Given the description of an element on the screen output the (x, y) to click on. 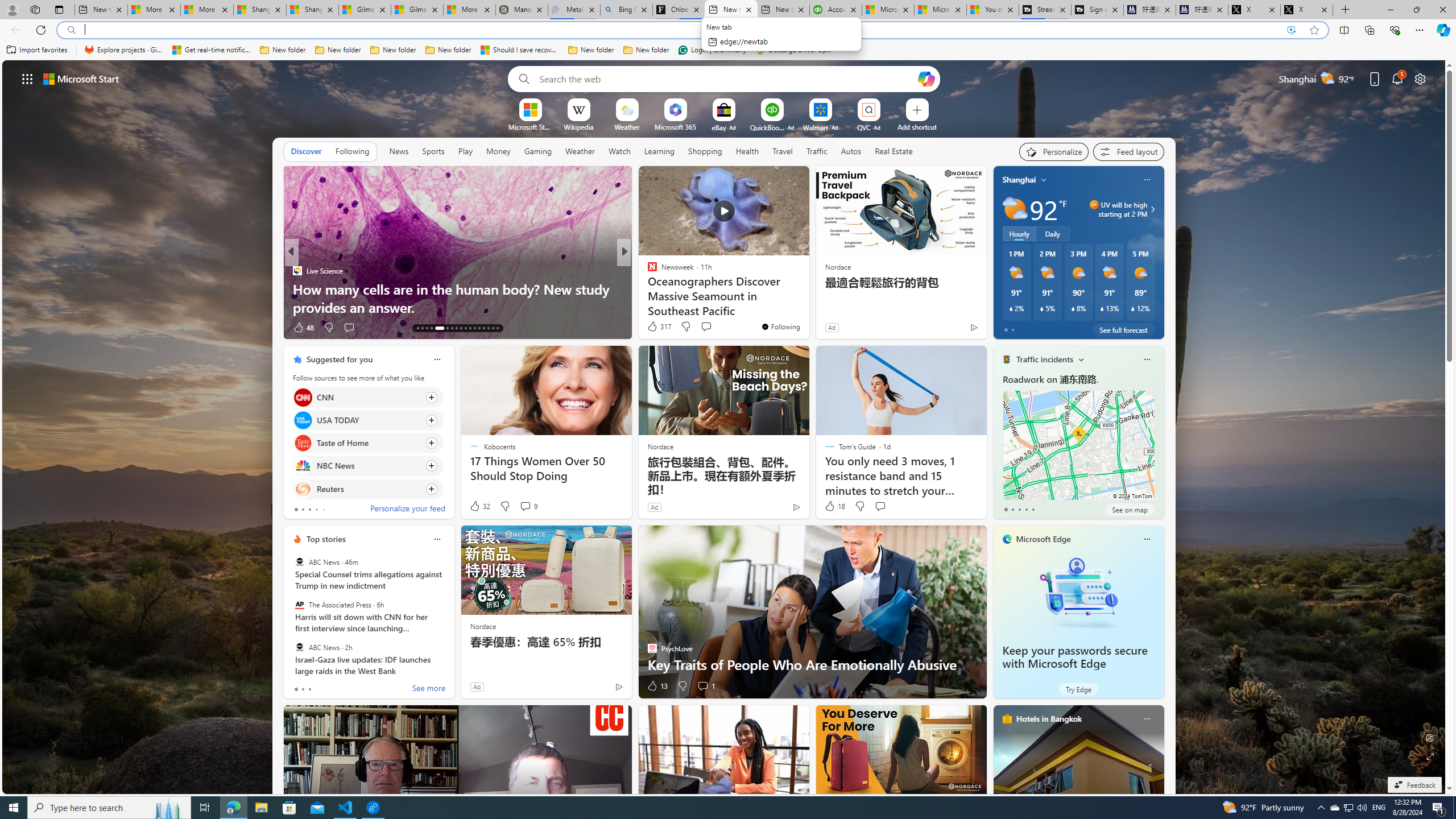
Summer Specials Deals (807, 307)
AutomationID: tab-38 (492, 328)
248 Like (654, 327)
See on map (1128, 509)
Real Estate (893, 151)
479 Like (654, 327)
7 Like (651, 327)
Daily (1052, 233)
Suggested for you (338, 359)
Class: weather-current-precipitation-glyph (1133, 308)
View comments 2 Comment (694, 327)
